Given the description of an element on the screen output the (x, y) to click on. 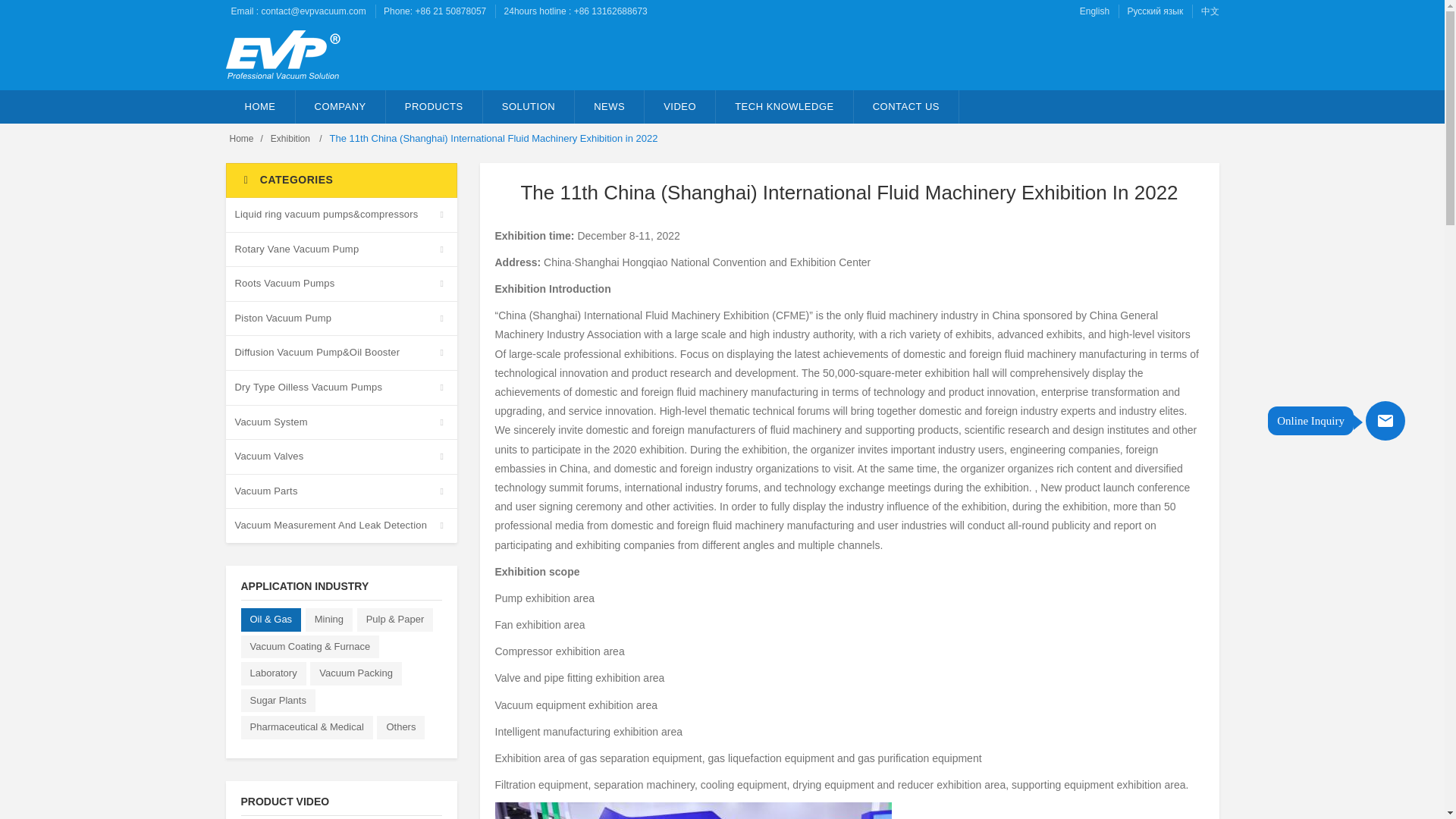
VIDEO (680, 106)
Home (240, 138)
PRODUCTS (434, 106)
English (1094, 10)
TECH KNOWLEDGE (784, 106)
COMPANY (340, 106)
Rotary Vane Vacuum Pump (341, 249)
Exhibition (291, 138)
SOLUTION (529, 106)
CONTACT US (906, 106)
NEWS (610, 106)
HOME (260, 106)
Online Inquiry (1385, 420)
